Given the description of an element on the screen output the (x, y) to click on. 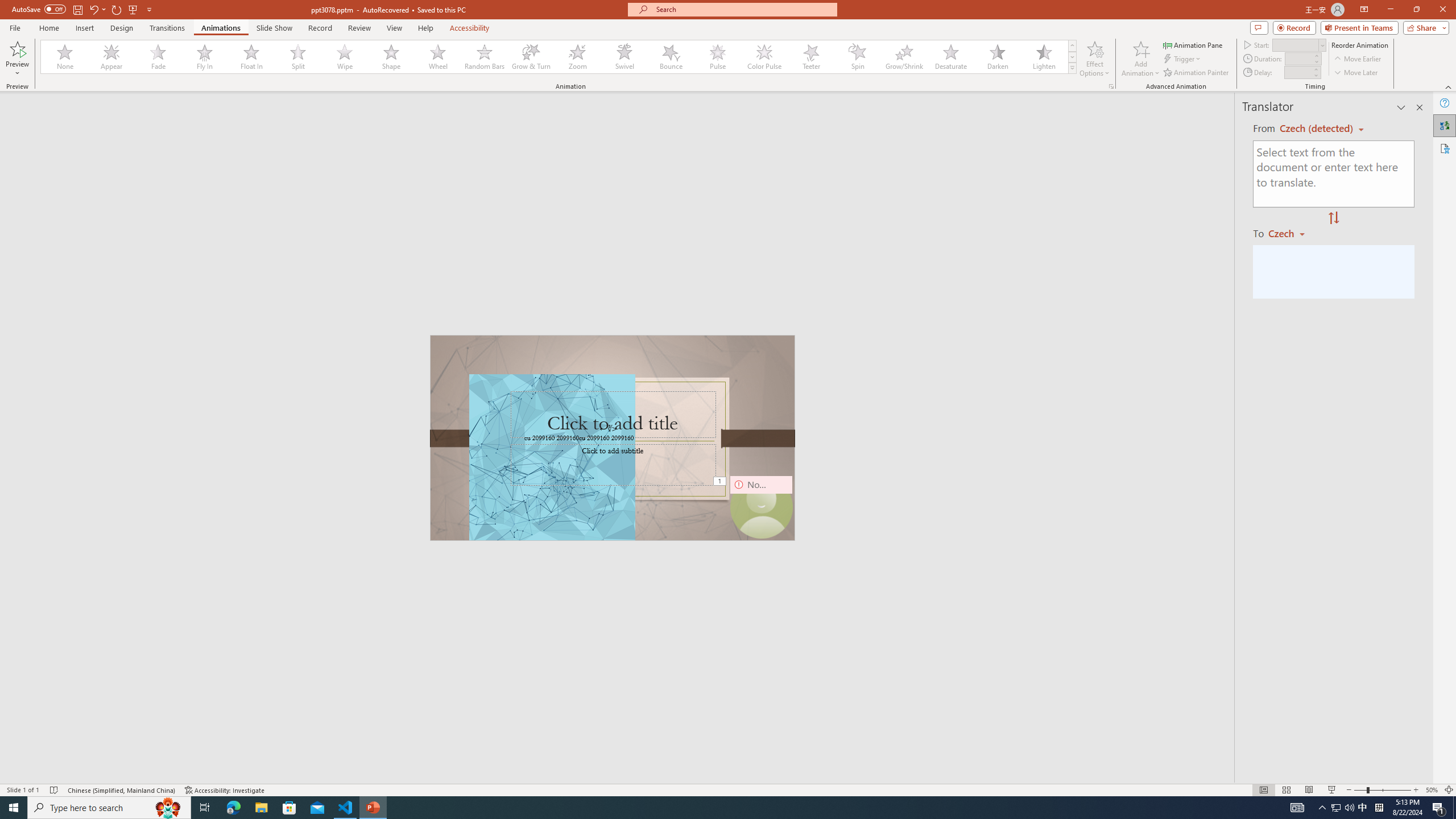
Wheel (437, 56)
AutomationID: AnimationGallery (558, 56)
Zoom 50% (1431, 790)
Appear (111, 56)
Fade (158, 56)
Lighten (1043, 56)
Animation Painter (1196, 72)
